Given the description of an element on the screen output the (x, y) to click on. 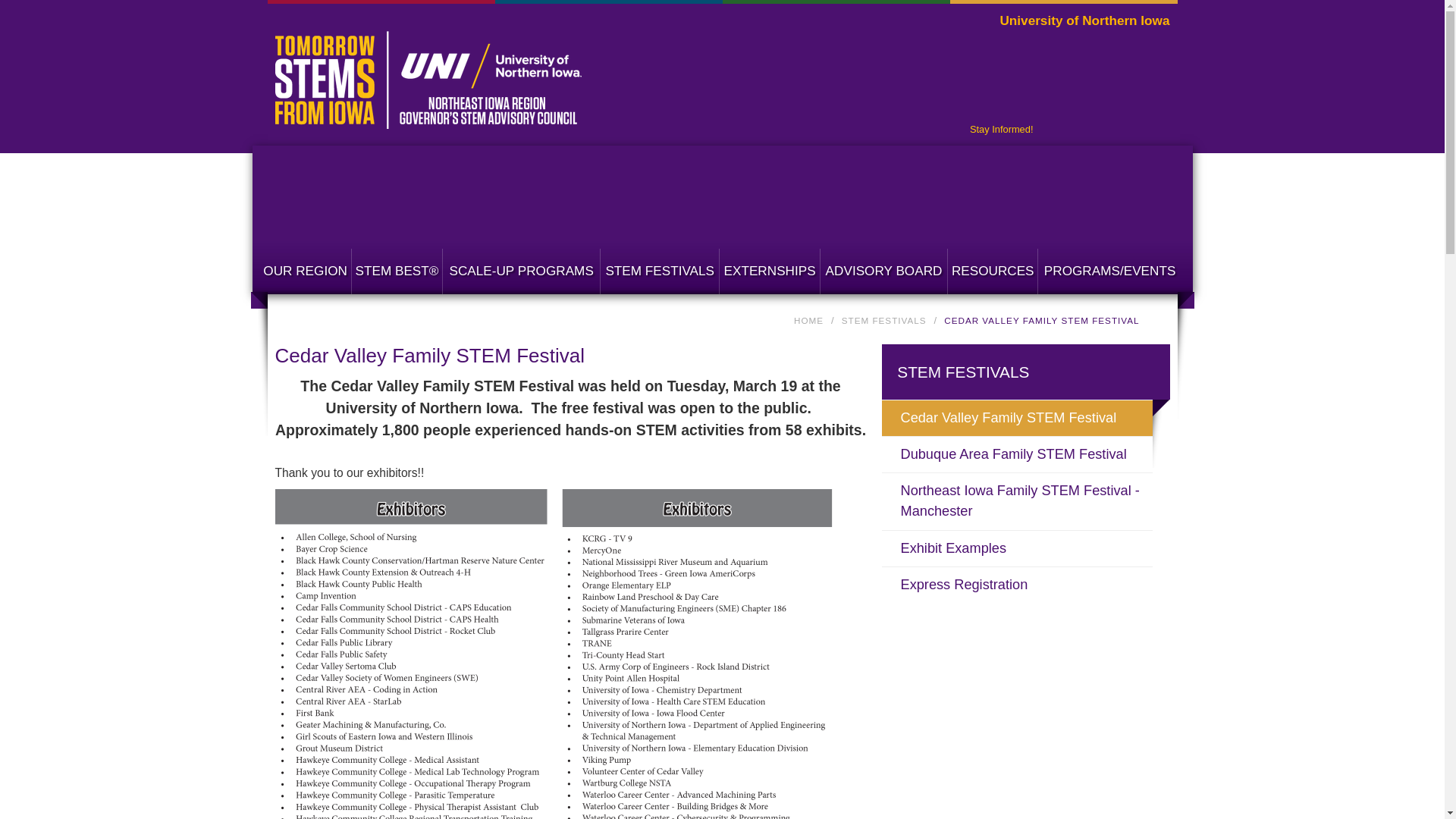
Cedar Valley Family STEM Festival (1024, 417)
HOME (808, 320)
Return to the Northeast Iowa STEM home page (427, 119)
Stay Informed! (1001, 129)
STEM FESTIVALS (883, 320)
Northeast Iowa Family STEM Festival - Manchester (1024, 501)
Sign Up for Announcements (1001, 129)
RESOURCES (992, 271)
EXTERNSHIPS (770, 271)
STEM programs (1109, 271)
STEM FESTIVALS (659, 271)
Dubuque Area Family STEM Festival (1024, 454)
Cedar Valley Family STEM Festival (1024, 417)
Skip to main content (694, 1)
University of Northern Iowa (1083, 21)
